Given the description of an element on the screen output the (x, y) to click on. 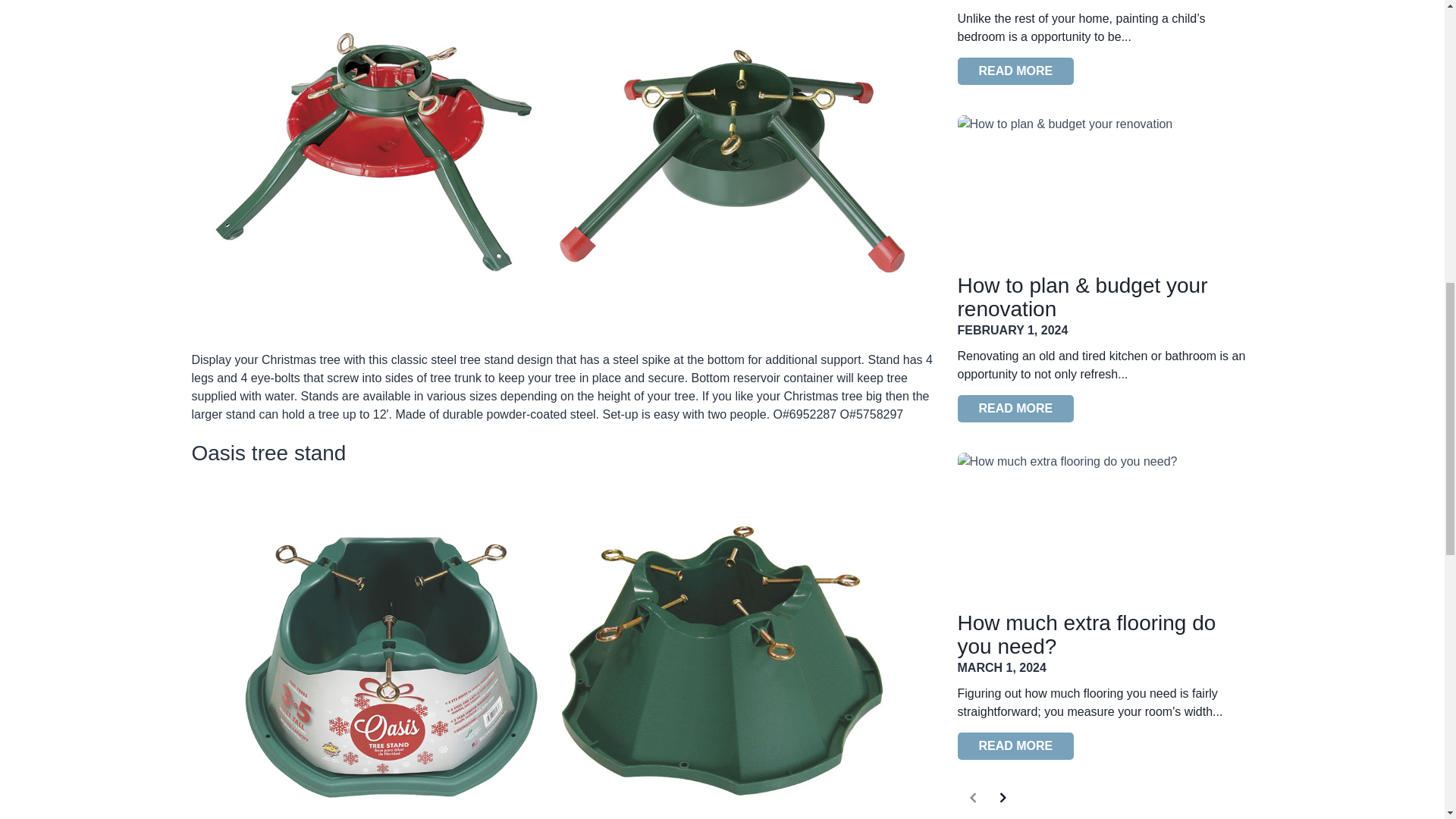
2024-03-01T01:30:16-05:00 (1000, 667)
2024-02-01T02:10:09-05:00 (1011, 329)
